Given the description of an element on the screen output the (x, y) to click on. 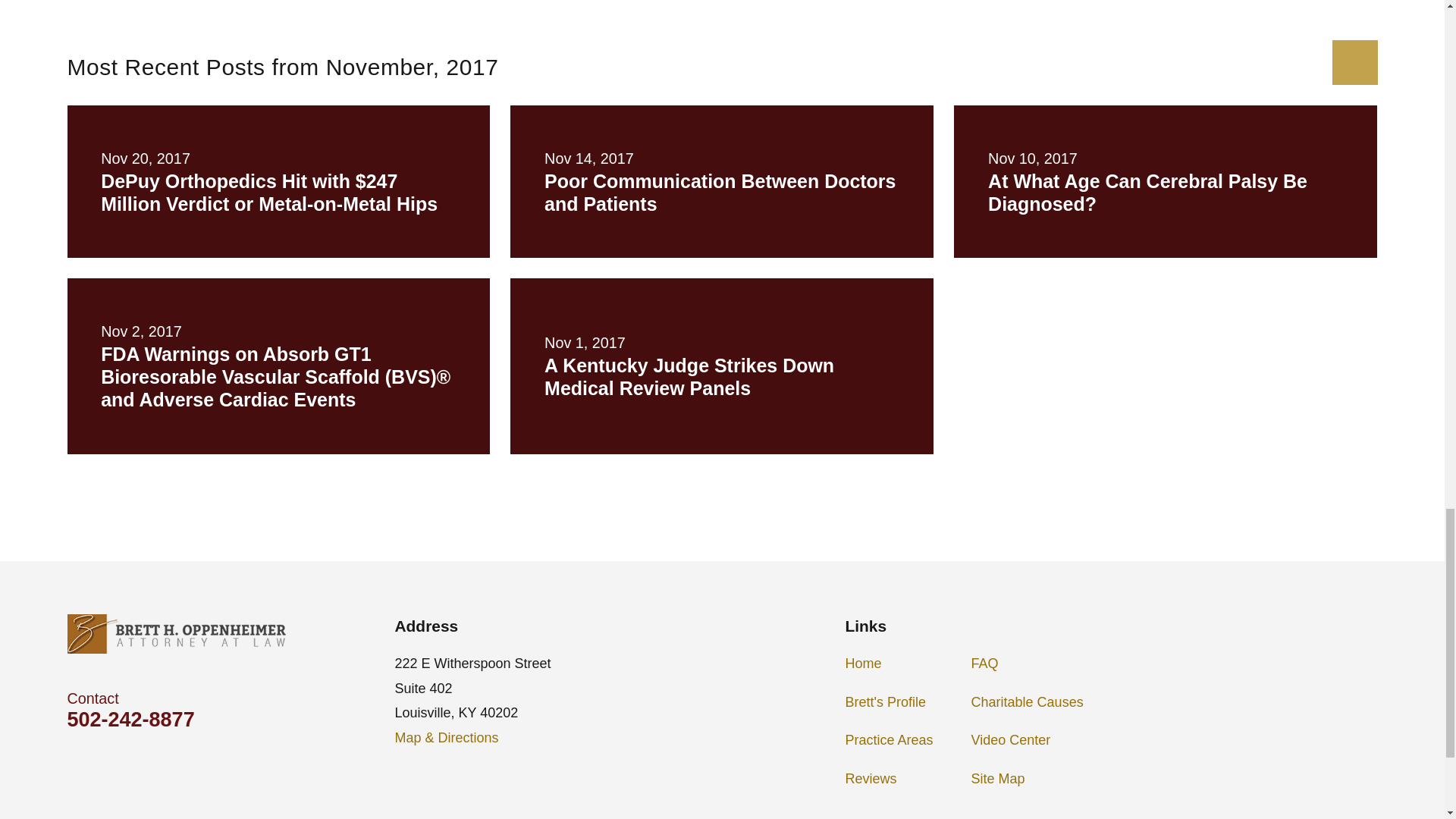
Home (175, 633)
Blog Menu (1354, 62)
